Given the description of an element on the screen output the (x, y) to click on. 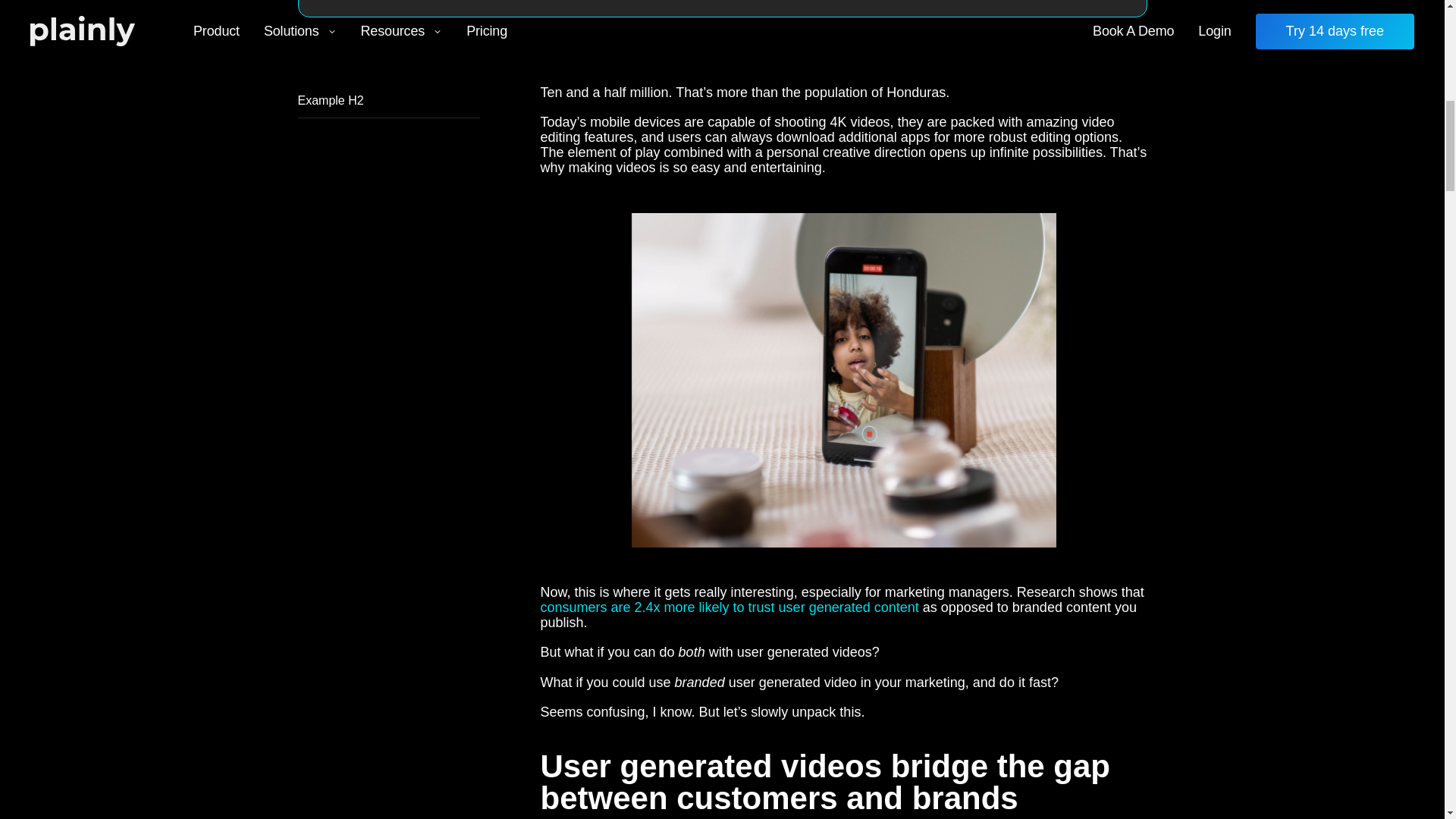
Example H2 (388, 100)
